Given the description of an element on the screen output the (x, y) to click on. 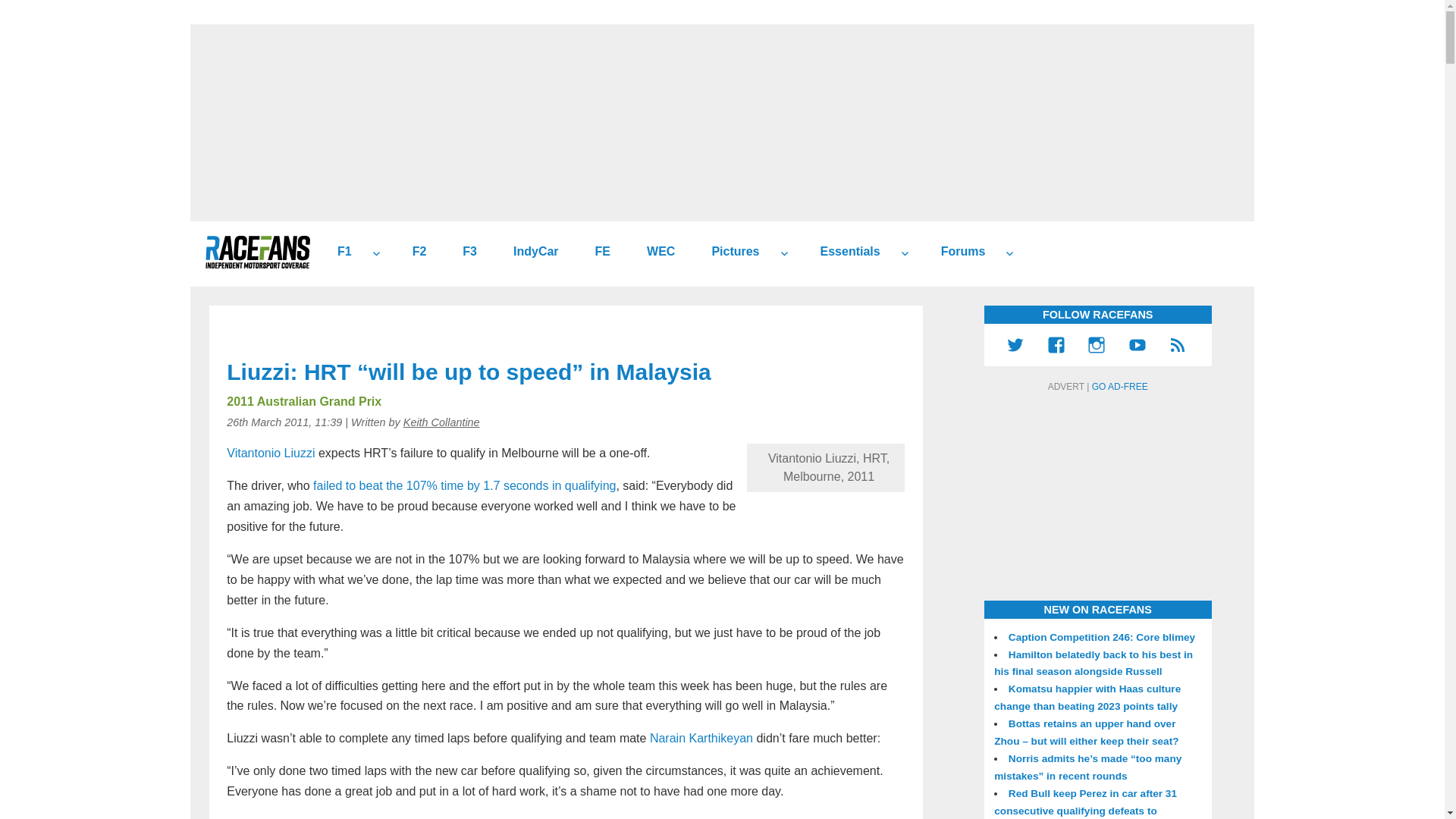
IndyCar (529, 251)
IndyCar (529, 251)
RaceFans (257, 252)
Formula 2 (413, 251)
Formula 3 (463, 251)
F1 (338, 251)
WEC (655, 251)
World Endurance Championship (655, 251)
Formula E (596, 251)
Pictures (729, 251)
expand child menu (783, 253)
expand child menu (904, 253)
Formula 1 (338, 251)
FE (596, 251)
F3 (463, 251)
